Given the description of an element on the screen output the (x, y) to click on. 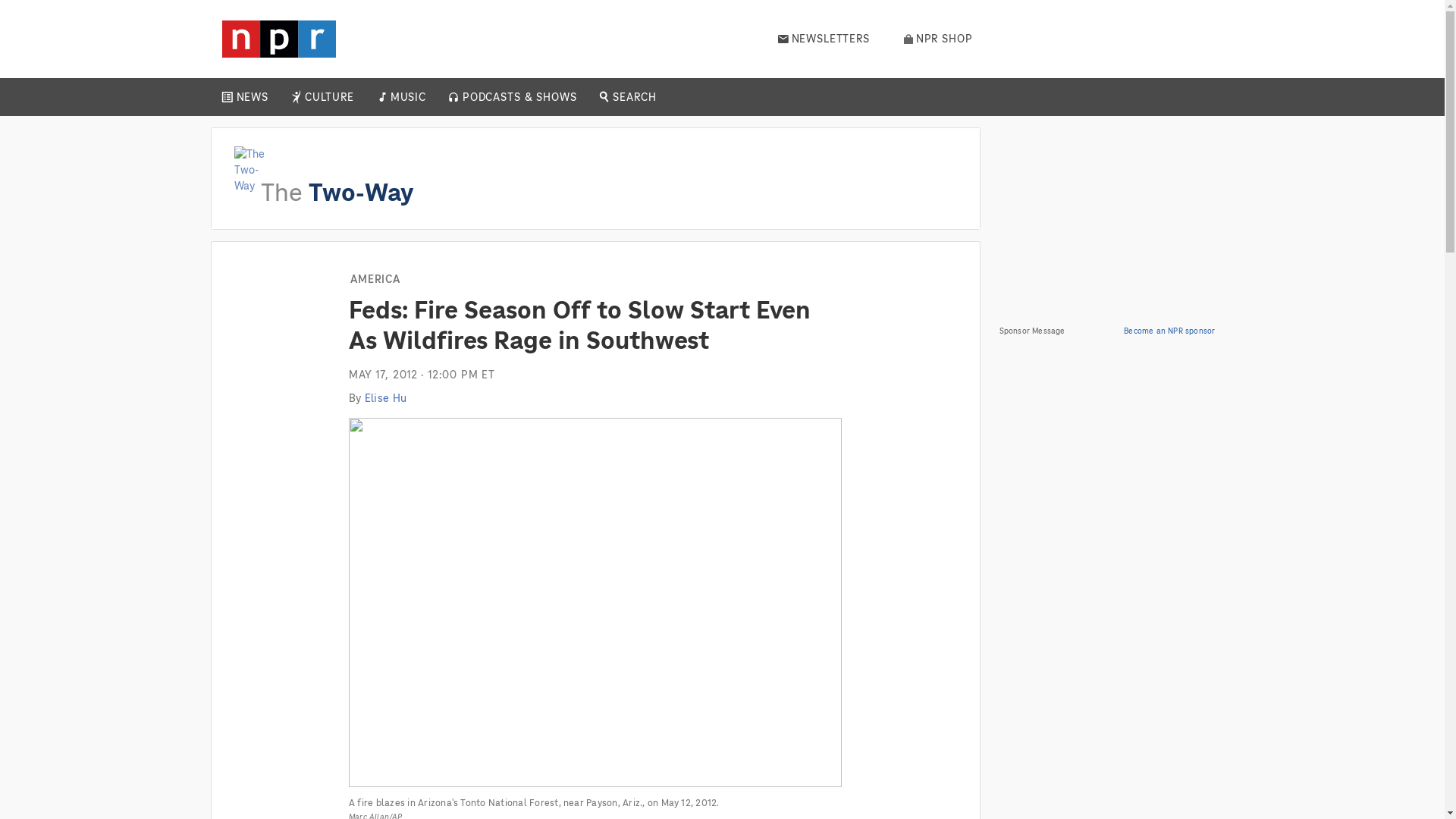
MUSIC (407, 96)
NEWS (251, 96)
NPR SHOP (938, 38)
CULTURE (328, 96)
NEWSLETTERS (823, 38)
